Given the description of an element on the screen output the (x, y) to click on. 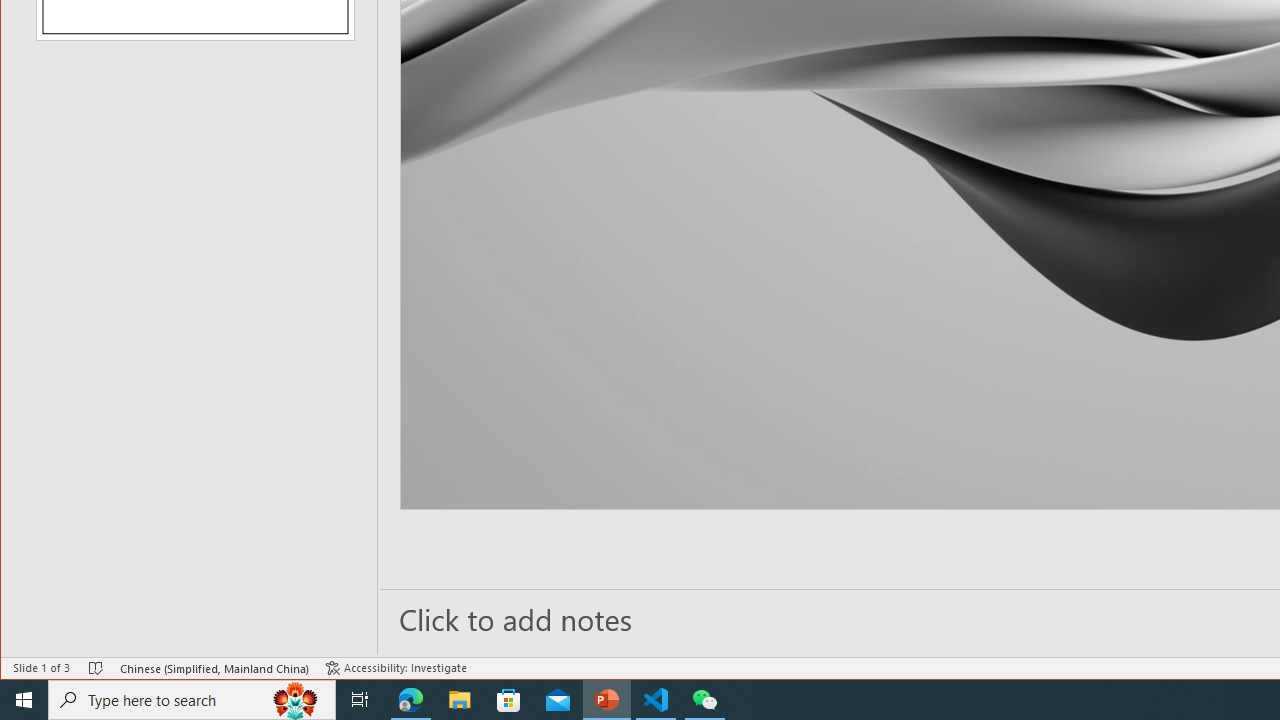
WeChat - 1 running window (704, 699)
